Given the description of an element on the screen output the (x, y) to click on. 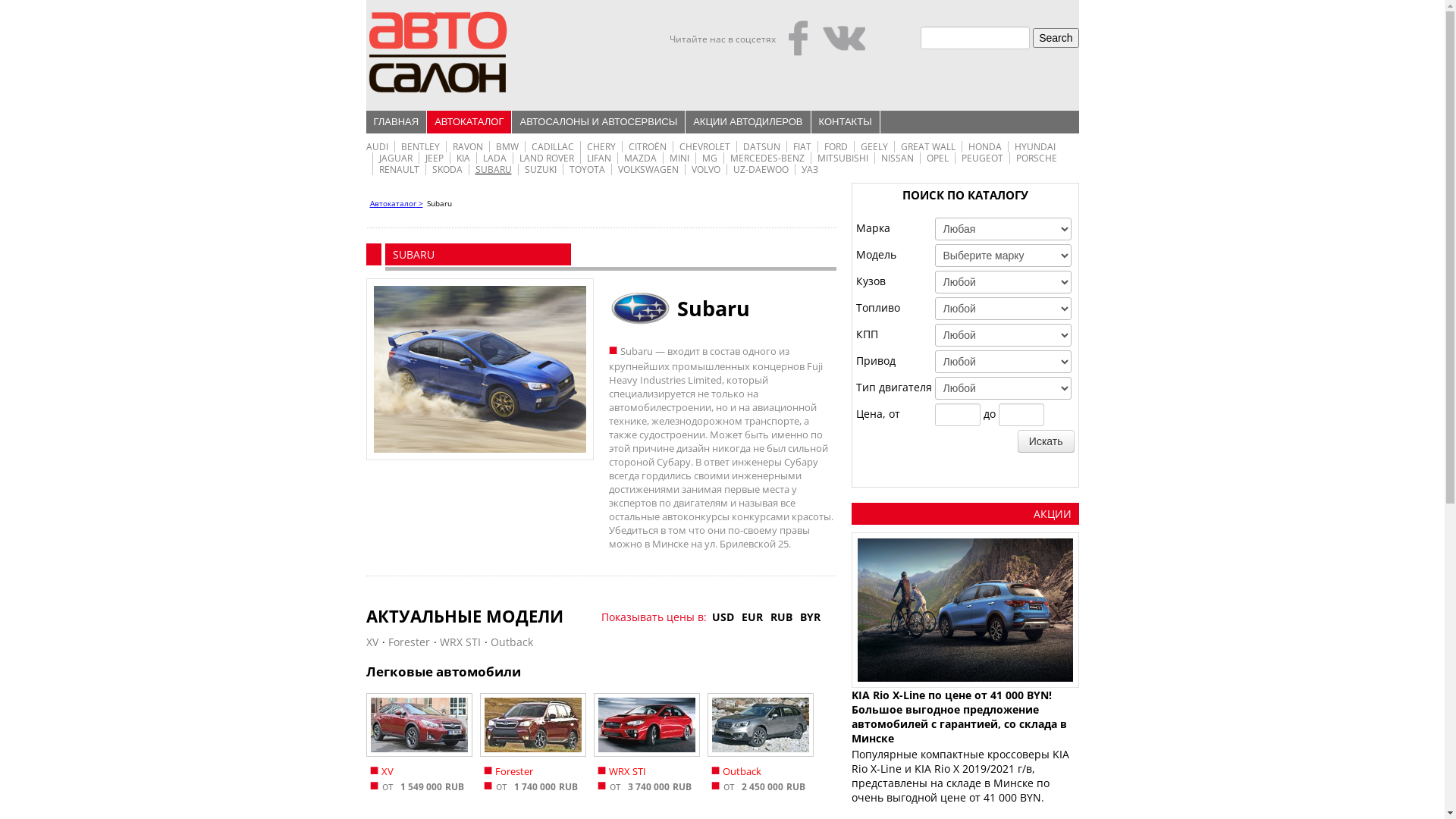
BMW Element type: text (506, 146)
EUR Element type: text (751, 616)
RUB Element type: text (780, 616)
VOLVO Element type: text (705, 169)
Forester Element type: hover (532, 724)
CHEVROLET Element type: text (704, 146)
Outback Element type: text (510, 641)
OPEL Element type: text (937, 157)
NISSAN Element type: text (897, 157)
JAGUAR Element type: text (395, 157)
XV Element type: hover (418, 724)
SUBARU Element type: text (413, 254)
SKODA Element type: text (447, 169)
BENTLEY Element type: text (419, 146)
CHERY Element type: text (600, 146)
WRX STI Element type: text (459, 641)
Subaru Element type: hover (479, 368)
AUDI Element type: text (376, 146)
LIFAN Element type: text (598, 157)
HYUNDAI Element type: text (1034, 146)
FORD Element type: text (835, 146)
MITSUBISHI Element type: text (842, 157)
Forester Element type: text (408, 641)
XV Element type: text (371, 641)
HONDA Element type: text (984, 146)
CADILLAC Element type: text (551, 146)
BYR Element type: text (809, 616)
FIAT Element type: text (802, 146)
LADA Element type: text (493, 157)
TOYOTA Element type: text (586, 169)
SUZUKI Element type: text (540, 169)
GEELY Element type: text (873, 146)
PEUGEOT Element type: text (982, 157)
DATSUN Element type: text (761, 146)
MG Element type: text (709, 157)
WRX STI Element type: hover (646, 724)
RAVON Element type: text (466, 146)
VOLKSWAGEN Element type: text (647, 169)
UZ-DAEWOO Element type: text (759, 169)
USD Element type: text (722, 616)
PORSCHE Element type: text (1036, 157)
LAND ROVER Element type: text (545, 157)
KIA Element type: text (463, 157)
SUBARU Element type: text (492, 169)
MINI Element type: text (678, 157)
MAZDA Element type: text (639, 157)
RENAULT Element type: text (399, 169)
Search Element type: text (1055, 37)
MERCEDES-BENZ Element type: text (766, 157)
Outback Element type: hover (759, 724)
JEEP Element type: text (433, 157)
GREAT WALL Element type: text (927, 146)
